Given the description of an element on the screen output the (x, y) to click on. 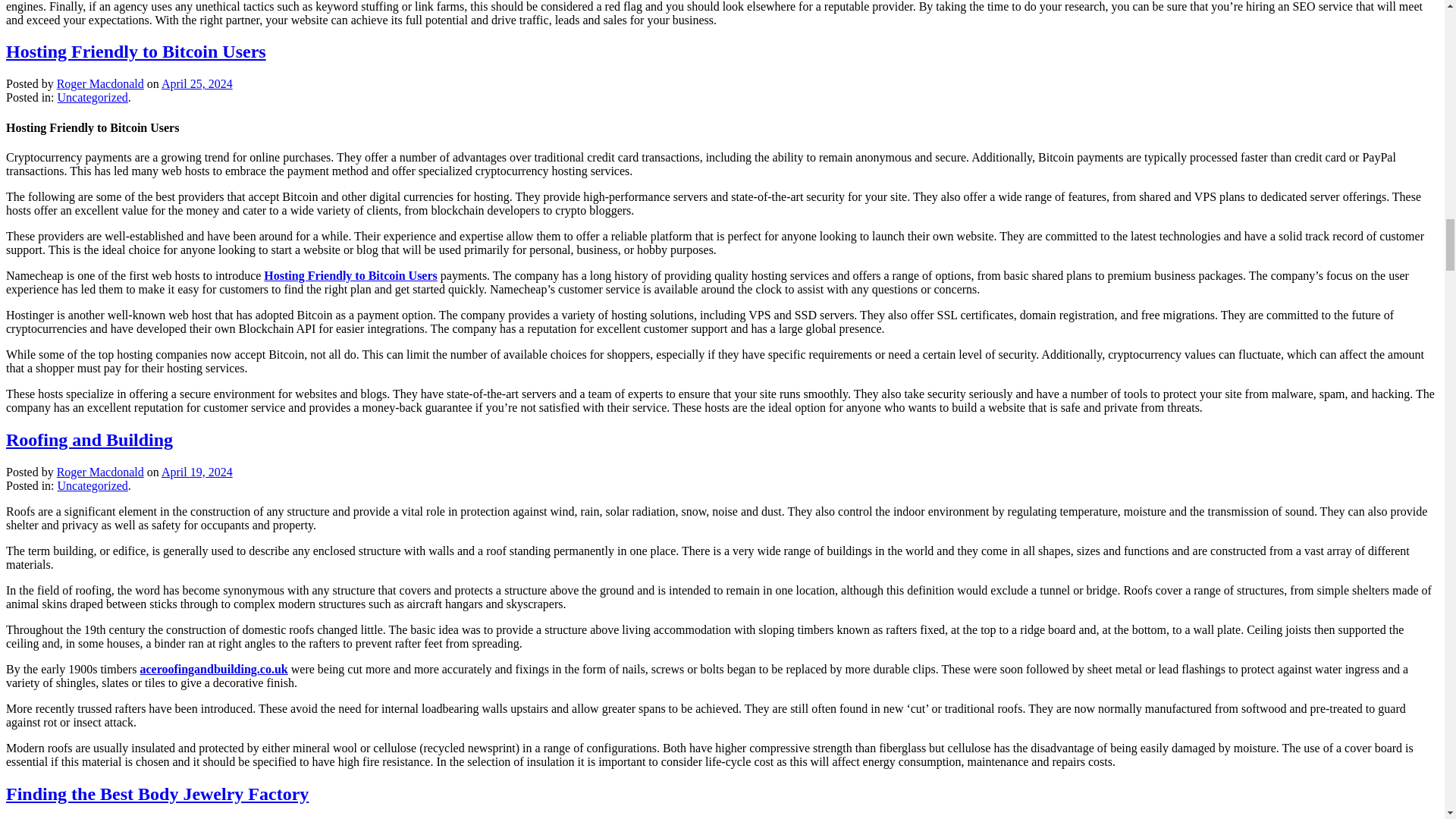
Hosting Friendly to Bitcoin Users (135, 51)
View all posts by Roger Macdonald (100, 472)
View all posts by Roger Macdonald (100, 83)
April 25, 2024 (196, 83)
Roger Macdonald (100, 83)
